Given the description of an element on the screen output the (x, y) to click on. 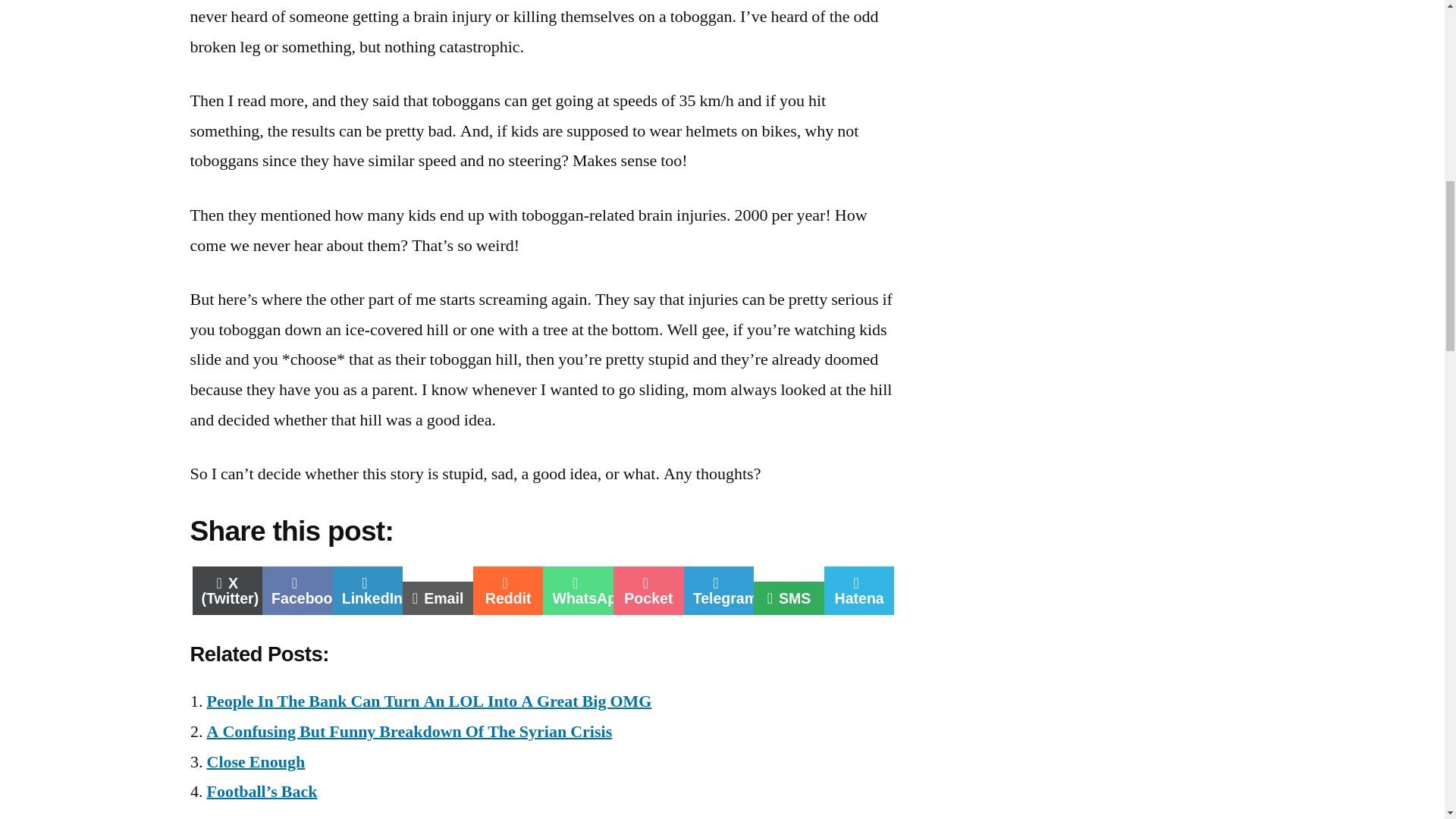
A Confusing But Funny Breakdown Of The Syrian Crisis (789, 598)
People In The Bank Can Turn An LOL Into A Great Big OMG (408, 731)
Close Enough (297, 590)
A Confusing But Funny Breakdown Of The Syrian Crisis (648, 590)
People In The Bank Can Turn An LOL Into A Great Big OMG (577, 590)
Close Enough (859, 590)
